Given the description of an element on the screen output the (x, y) to click on. 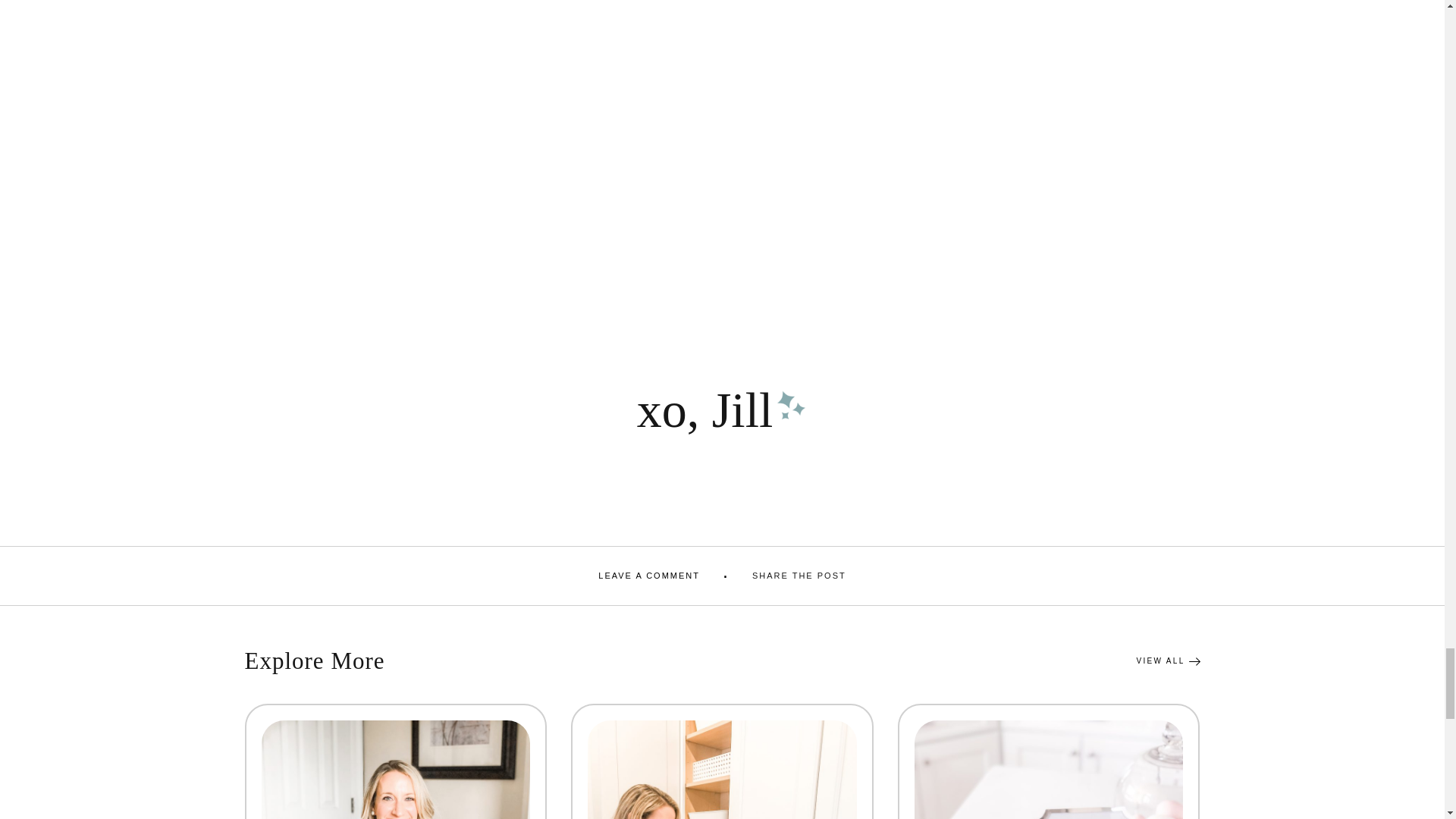
LEAVE A COMMENT (649, 575)
VIEW ALL (1168, 661)
LEAVE A COMMENT (649, 575)
